Given the description of an element on the screen output the (x, y) to click on. 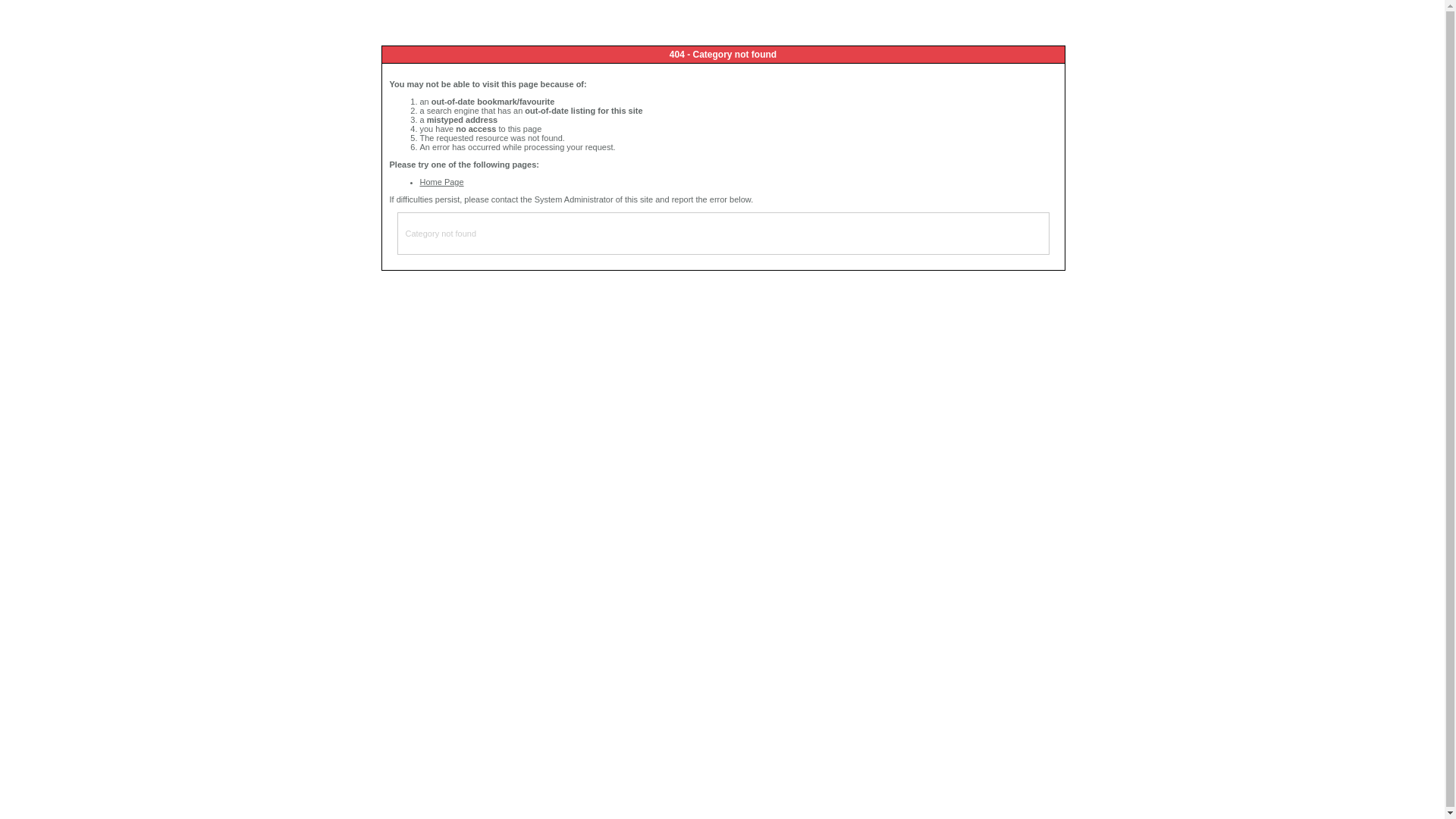
Home Page Element type: text (442, 181)
